Given the description of an element on the screen output the (x, y) to click on. 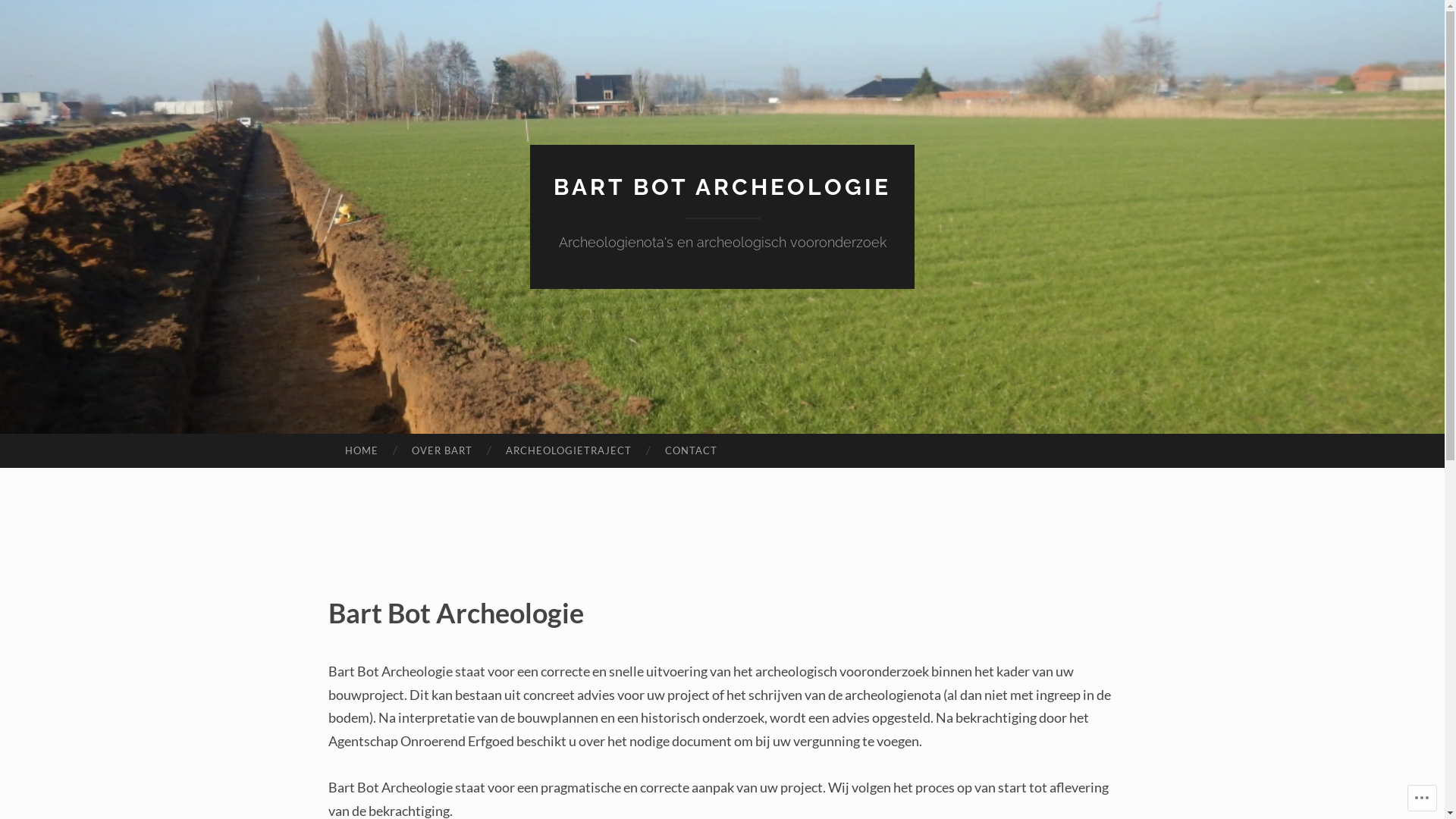
HOME Element type: text (360, 450)
CONTACT Element type: text (691, 450)
ARCHEOLOGIETRAJECT Element type: text (568, 450)
OVER BART Element type: text (442, 450)
BART BOT ARCHEOLOGIE Element type: text (722, 186)
